Given the description of an element on the screen output the (x, y) to click on. 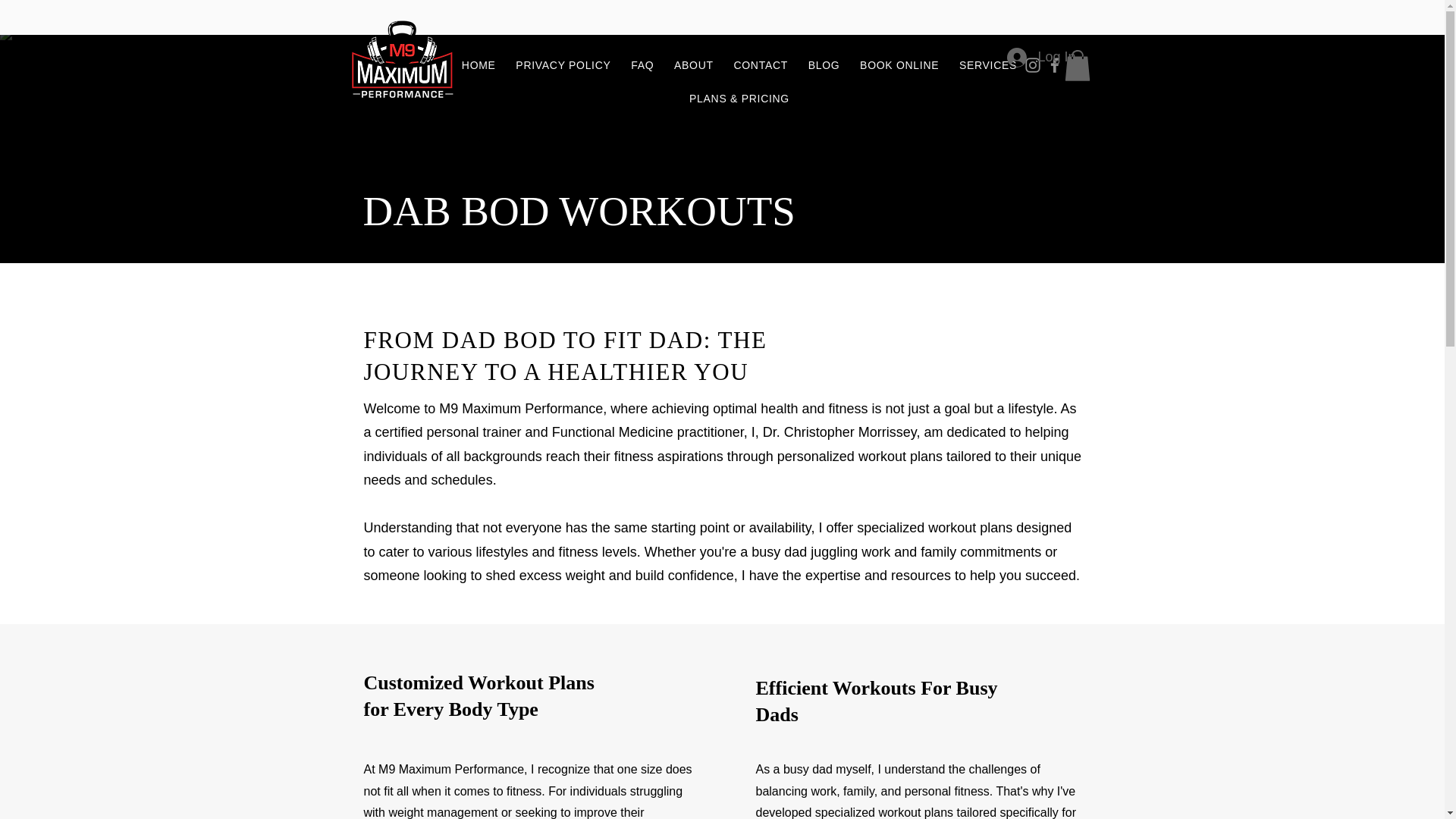
FAQ (642, 64)
ABOUT (693, 64)
PRIVACY POLICY (563, 64)
BLOG (823, 64)
Log In (1040, 57)
HOME (478, 64)
CONTACT (760, 64)
BOOK ONLINE (899, 64)
